Given the description of an element on the screen output the (x, y) to click on. 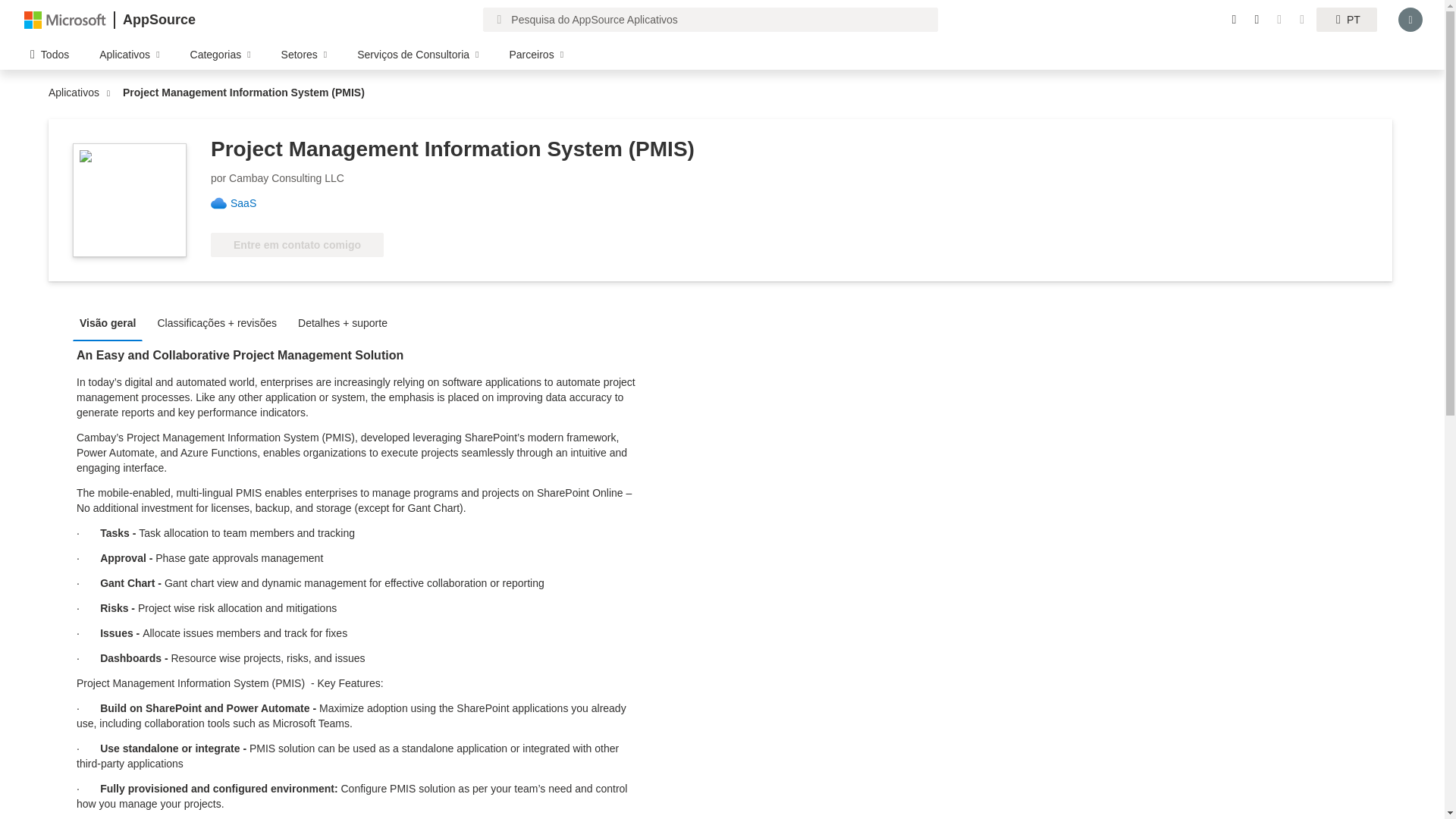
SaaS (248, 203)
AppSource (158, 19)
Entre em contato comigo (297, 244)
Microsoft (65, 18)
Aplicativos (77, 92)
SaaS (248, 203)
